Given the description of an element on the screen output the (x, y) to click on. 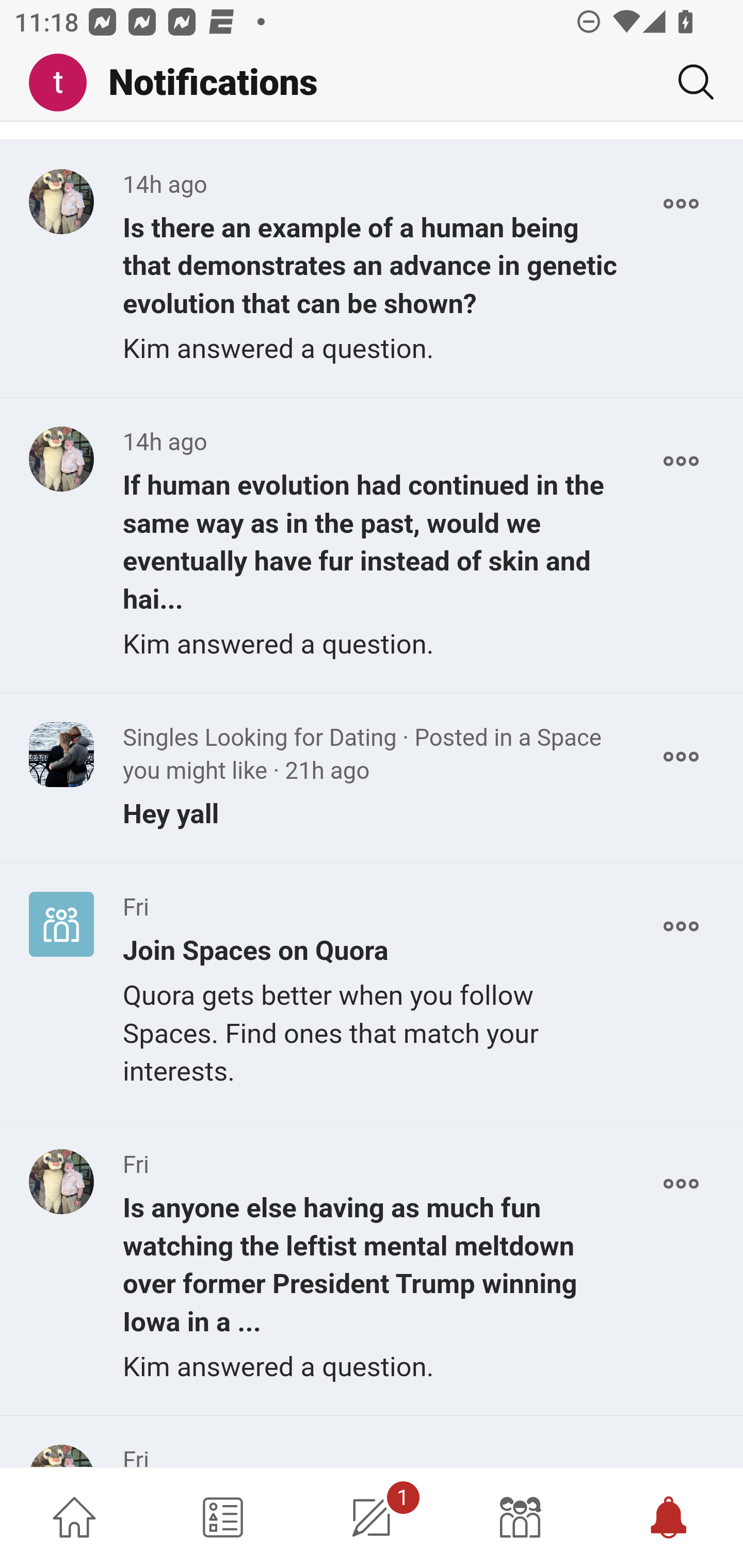
Me (64, 83)
Search (688, 82)
More (681, 203)
More (681, 460)
More (681, 756)
More (681, 925)
More (681, 1184)
1 (371, 1517)
